Given the description of an element on the screen output the (x, y) to click on. 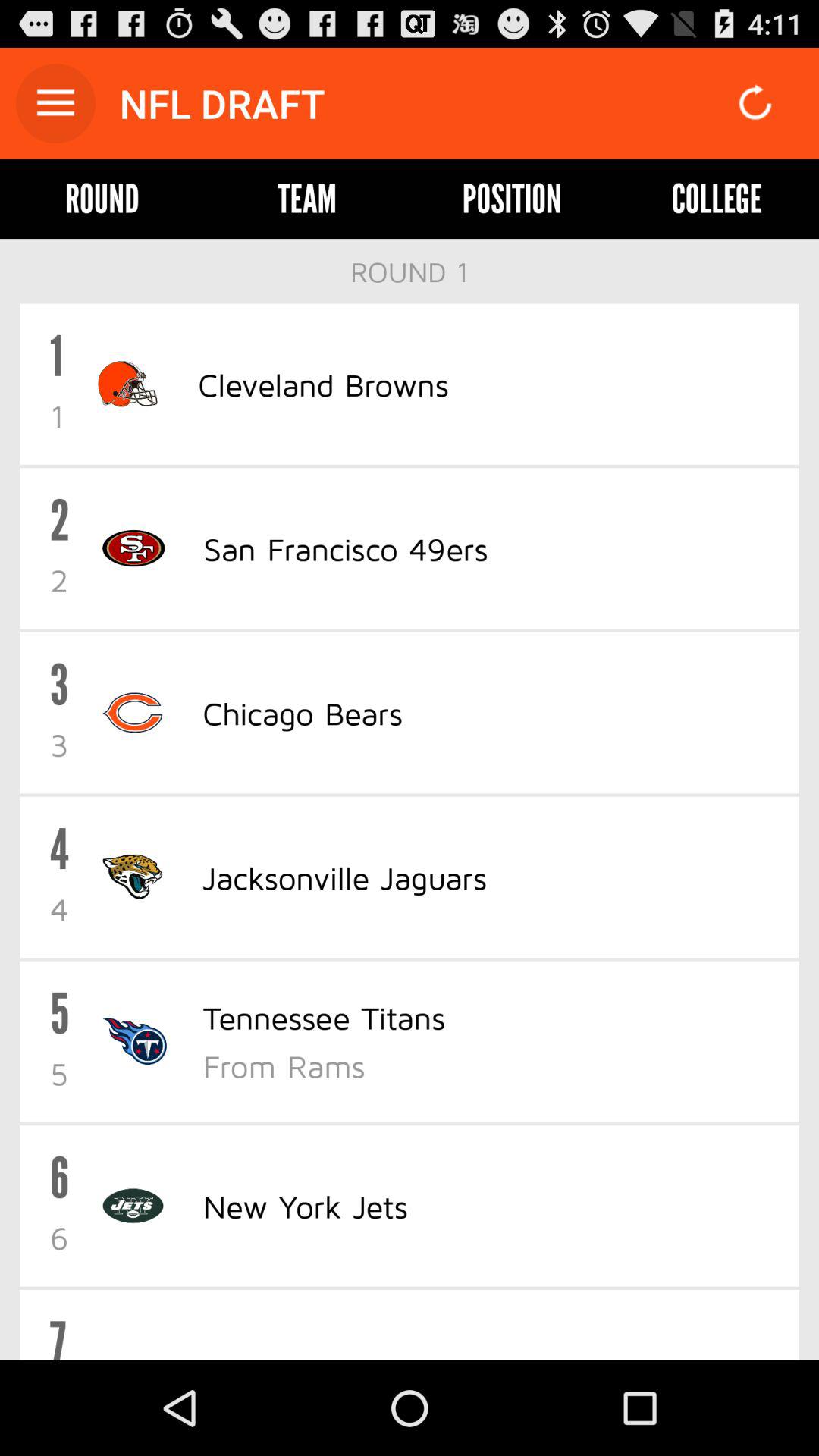
press the 7 item (57, 1334)
